Given the description of an element on the screen output the (x, y) to click on. 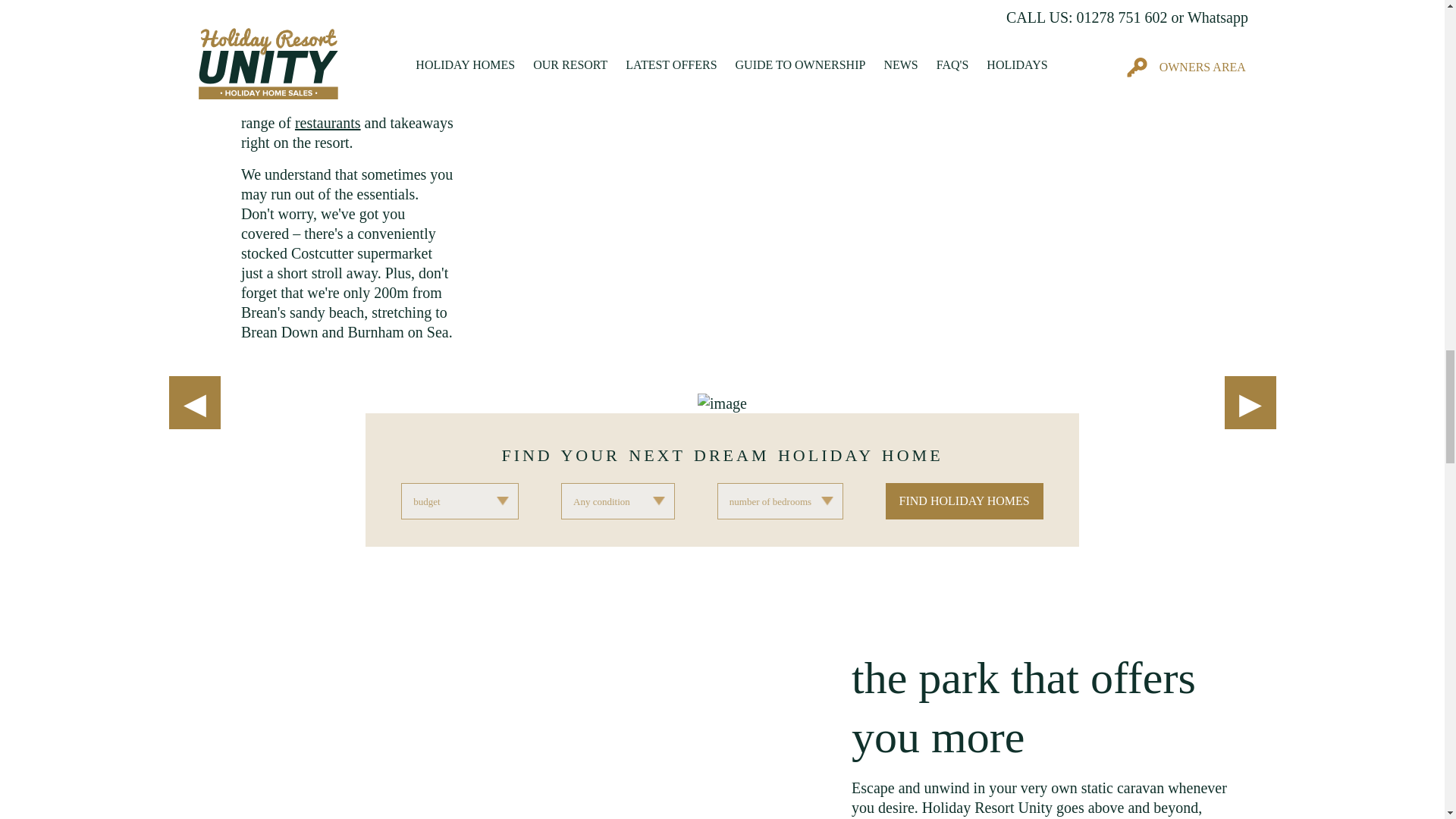
waterpark (323, 6)
FIND HOLIDAY HOMES (964, 501)
restaurants (328, 122)
fishing lake (341, 23)
